Given the description of an element on the screen output the (x, y) to click on. 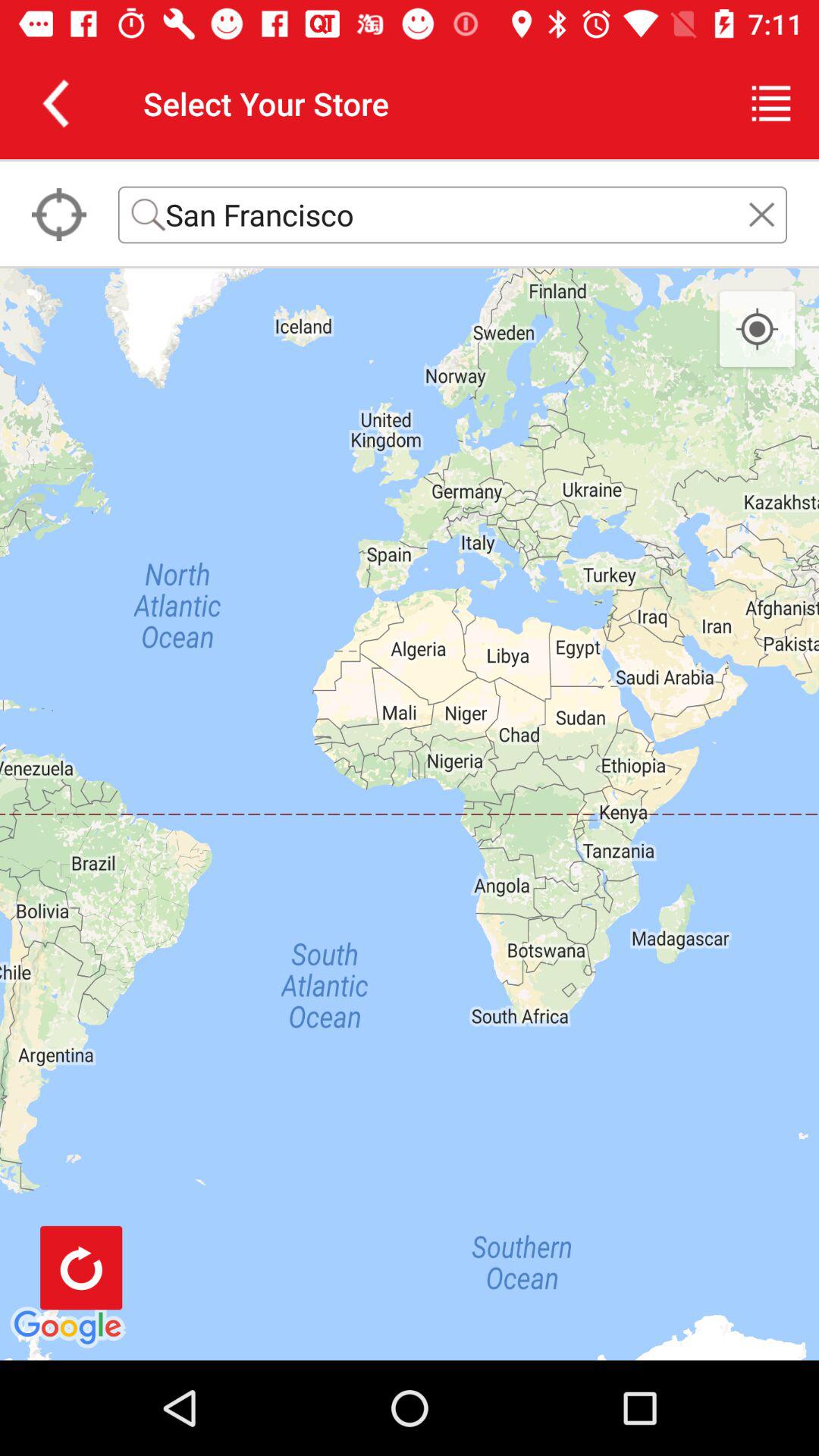
launch the icon at the center (409, 814)
